Given the description of an element on the screen output the (x, y) to click on. 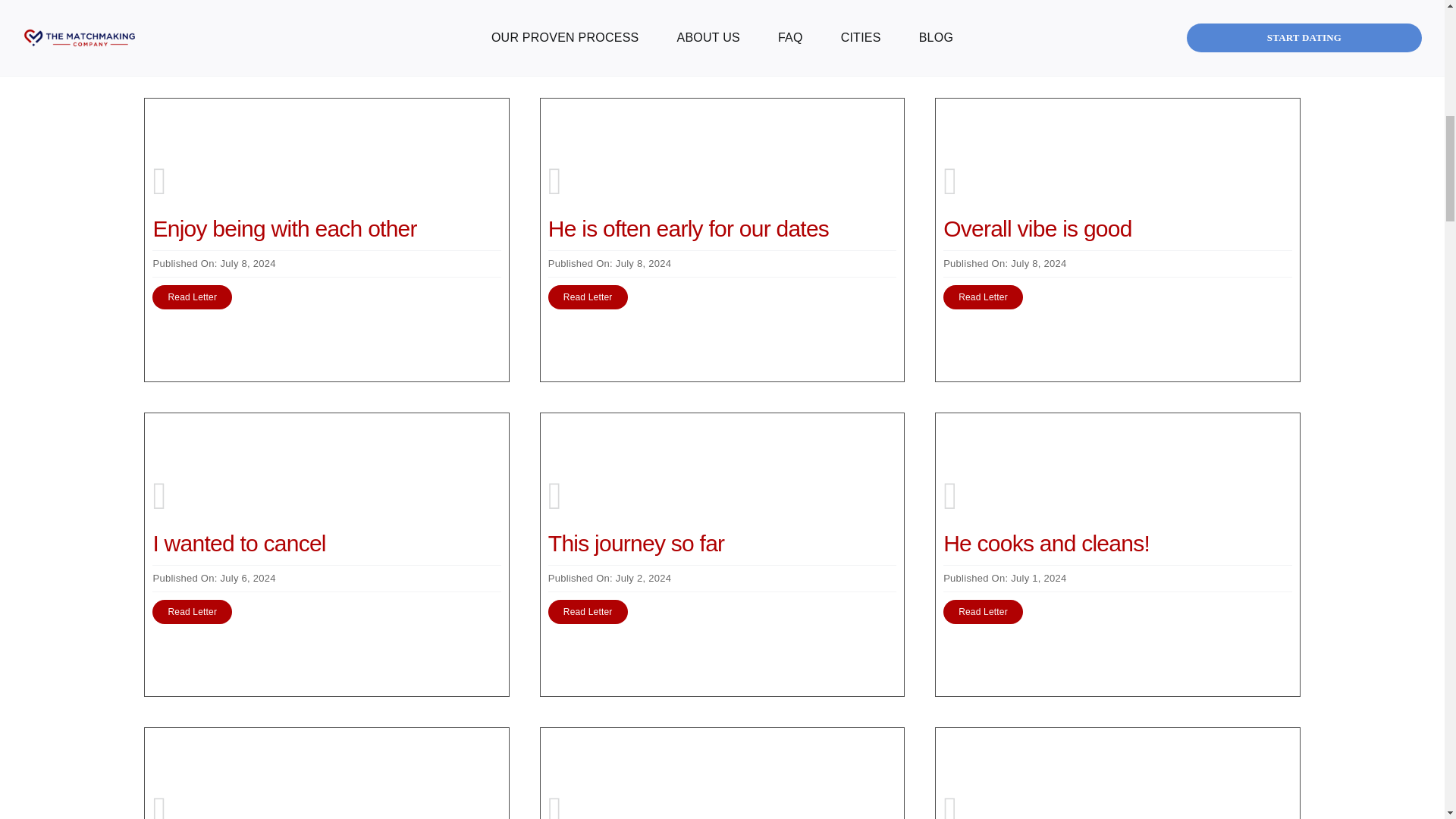
Overall vibe is good (1037, 228)
Read Letter (983, 297)
Read Letter (191, 611)
Read Letter (587, 297)
He is often early for our dates (688, 228)
I wanted to cancel (238, 543)
Enjoy being with each other (284, 228)
Read Letter (191, 297)
